Given the description of an element on the screen output the (x, y) to click on. 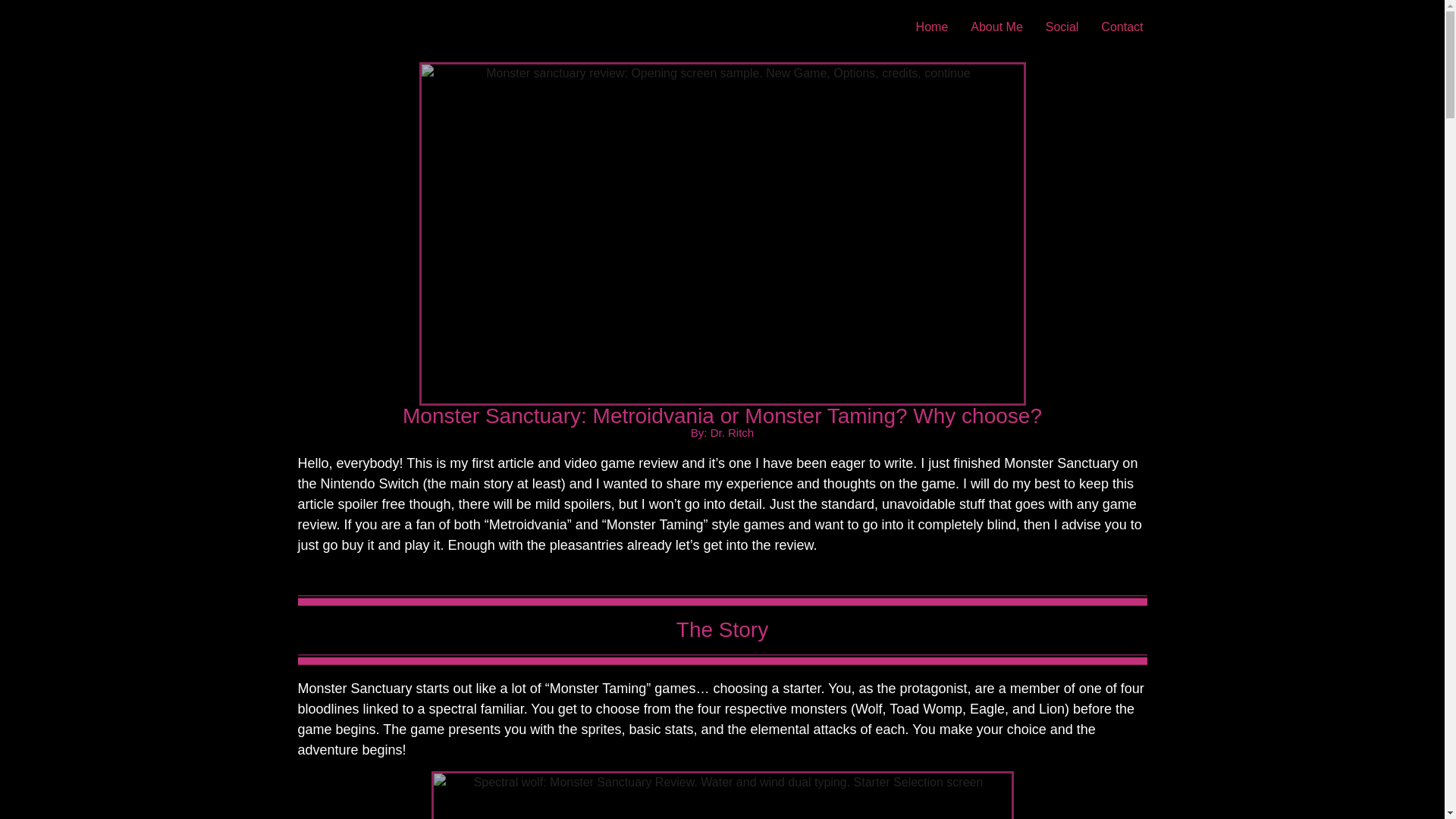
About Me (996, 27)
Home (931, 27)
Contact (1121, 27)
Social (1061, 27)
